Given the description of an element on the screen output the (x, y) to click on. 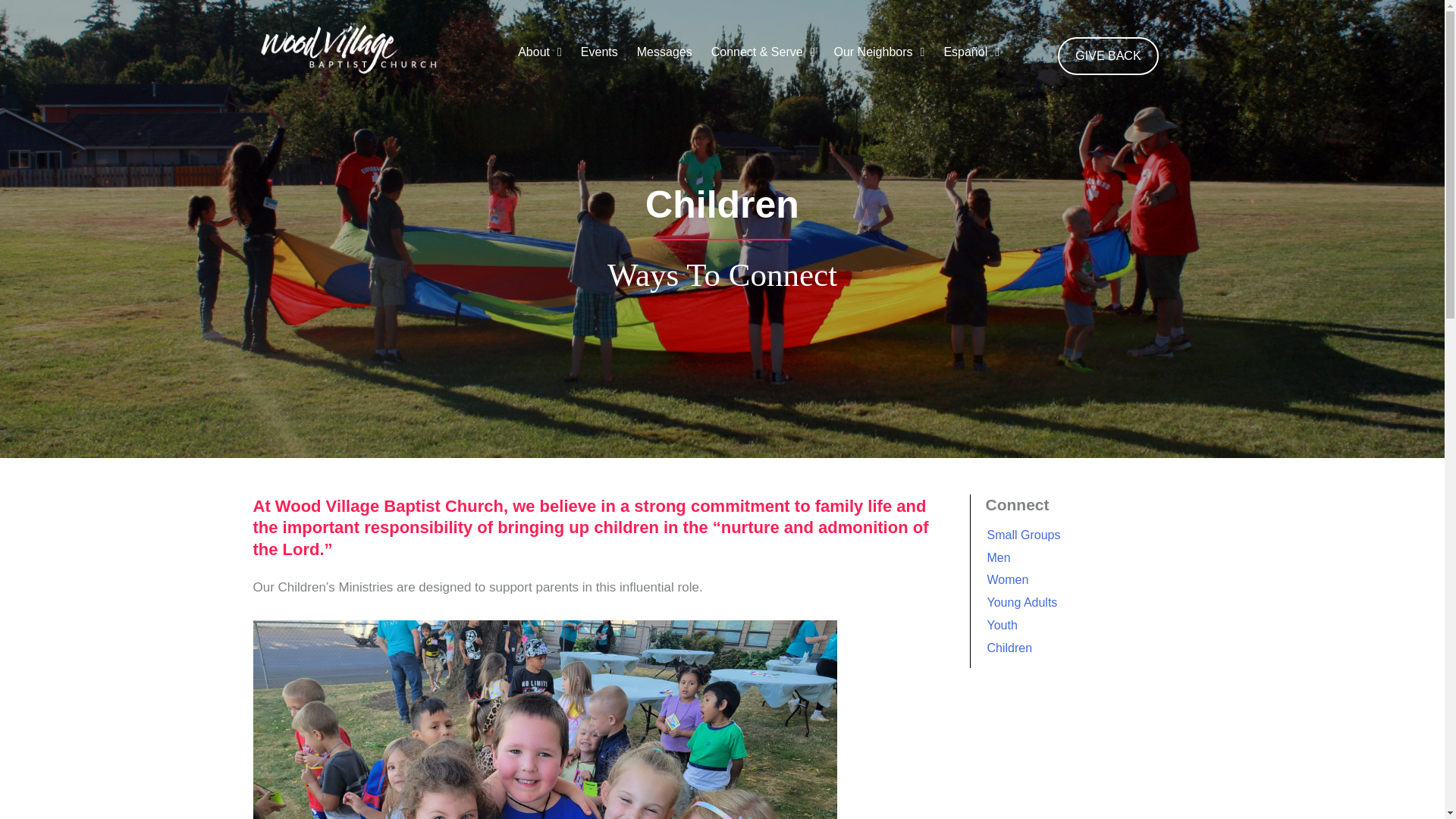
Messages (661, 55)
D3S15 (545, 719)
Our Neighbors (876, 55)
Events (597, 55)
About (538, 55)
